Given the description of an element on the screen output the (x, y) to click on. 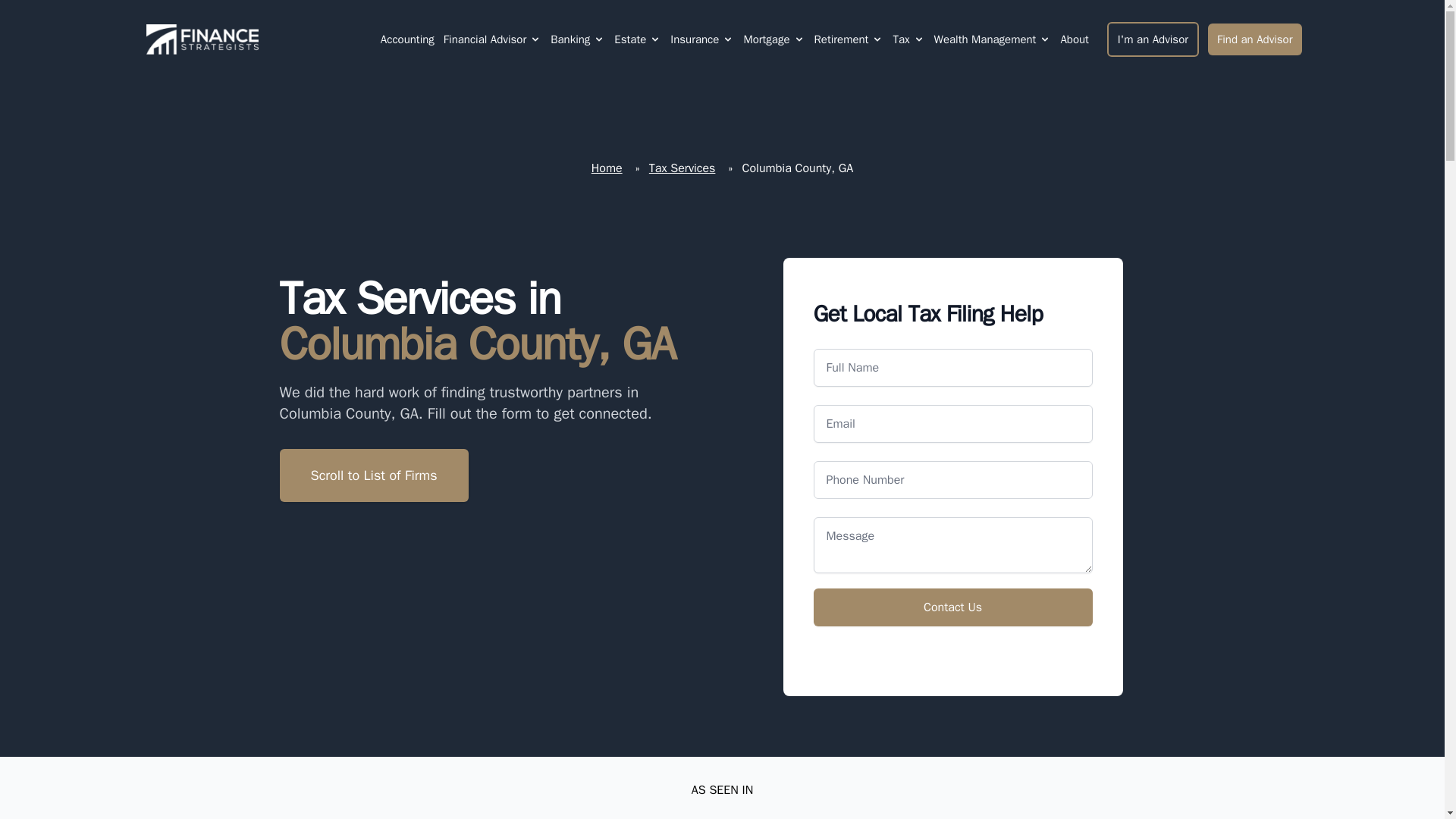
Banking (569, 39)
Accounting (406, 39)
Accounting (407, 39)
Financial Advisor (484, 39)
Finance Strategists (199, 39)
Financial Advisor (492, 39)
Banking (577, 39)
